Given the description of an element on the screen output the (x, y) to click on. 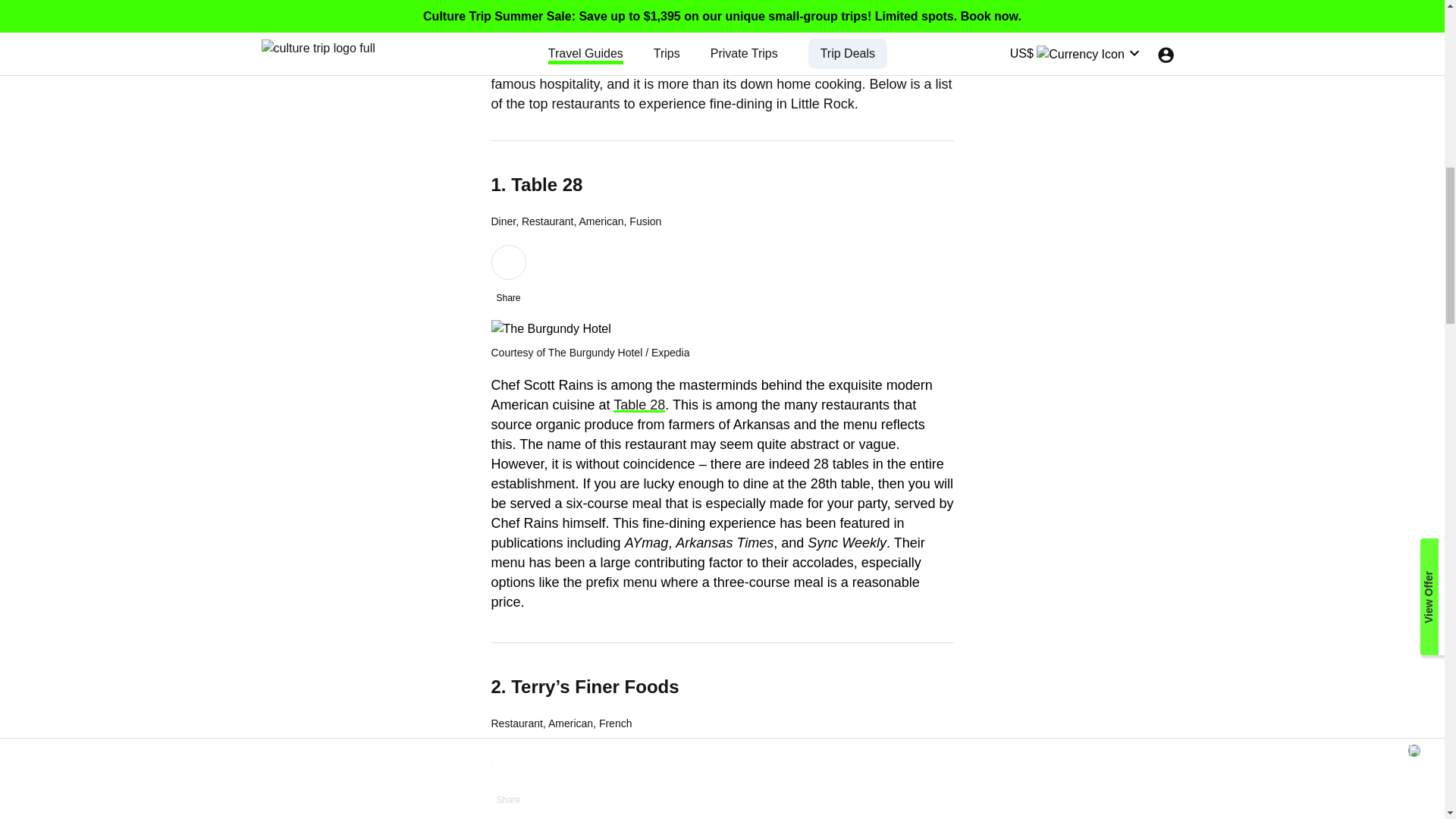
Arkansas (671, 64)
Table 28 (638, 404)
15 May 2020 (357, 23)
